Given the description of an element on the screen output the (x, y) to click on. 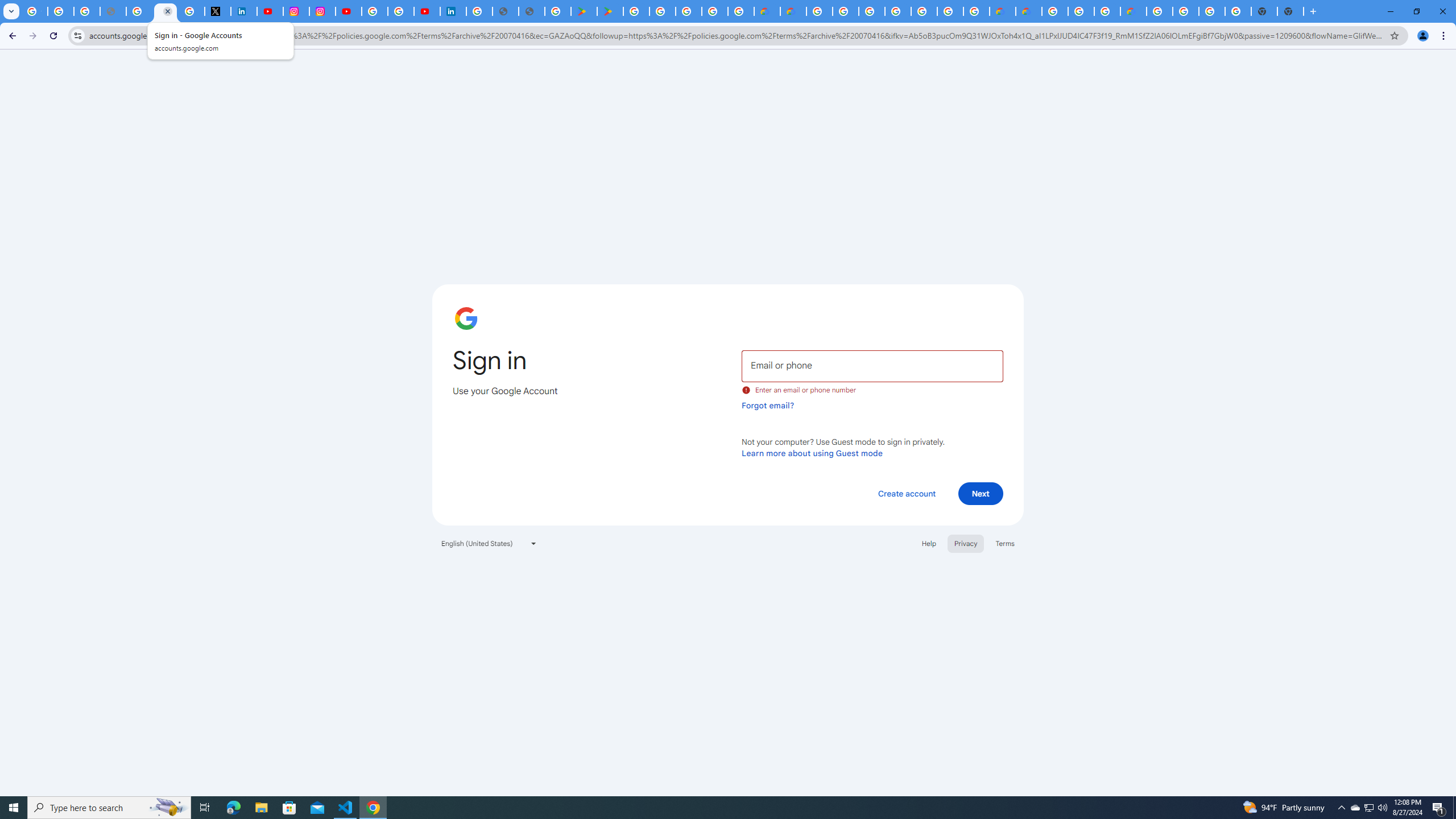
Sign in - Google Accounts (871, 11)
Google Cloud Service Health (1133, 11)
Google Cloud Platform (1054, 11)
Google Cloud Platform (1185, 11)
Google Workspace - Specific Terms (715, 11)
Google Cloud Platform (949, 11)
PAW Patrol Rescue World - Apps on Google Play (610, 11)
